Given the description of an element on the screen output the (x, y) to click on. 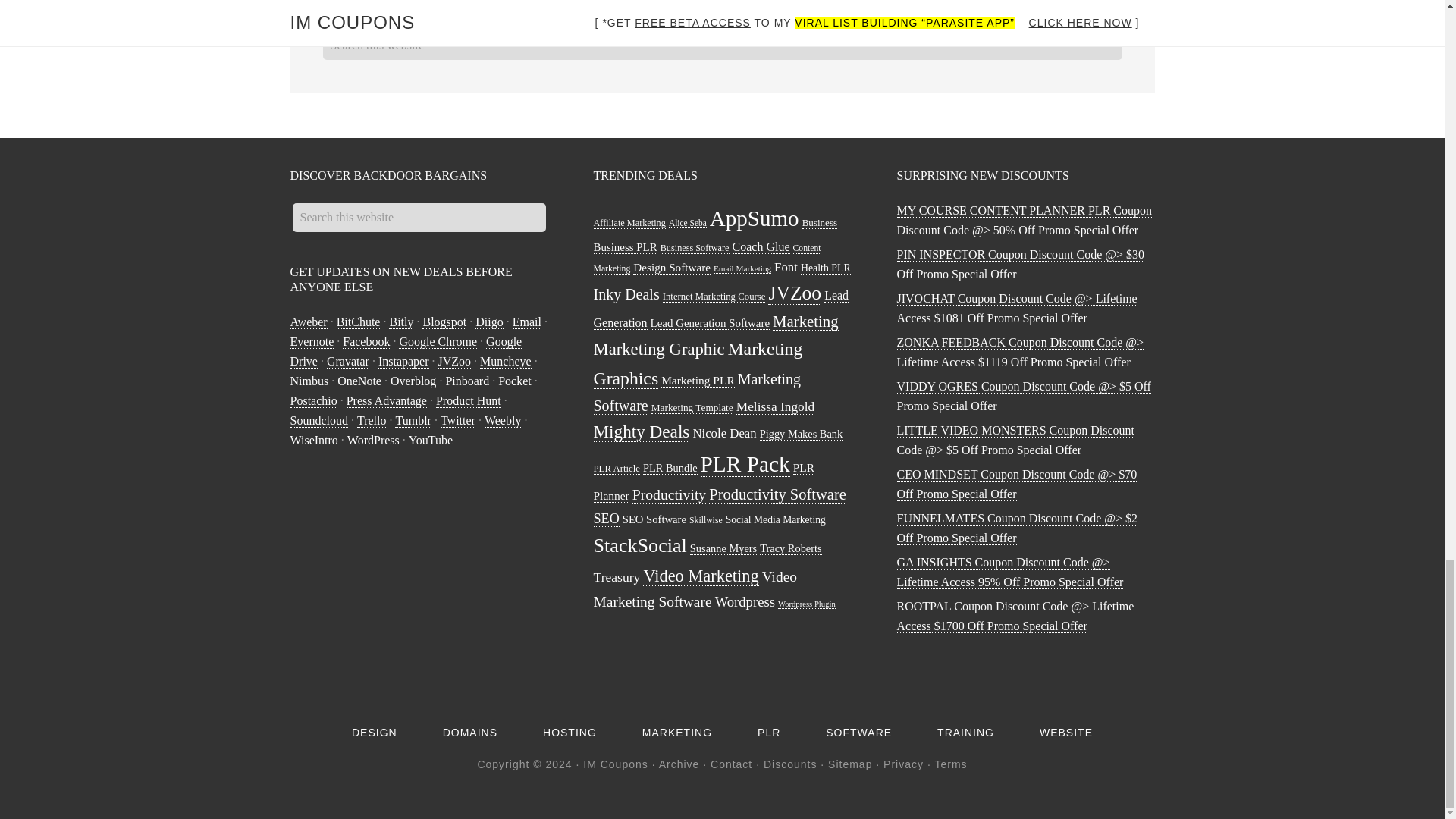
Bitly (400, 322)
Nimbus (309, 381)
Evernote (311, 341)
Overblog (412, 381)
BitChute (358, 322)
Email (526, 322)
Facebook (366, 341)
JVZoo (454, 361)
Google Chrome (437, 341)
Pinboard (467, 381)
Instapaper (403, 361)
